Given the description of an element on the screen output the (x, y) to click on. 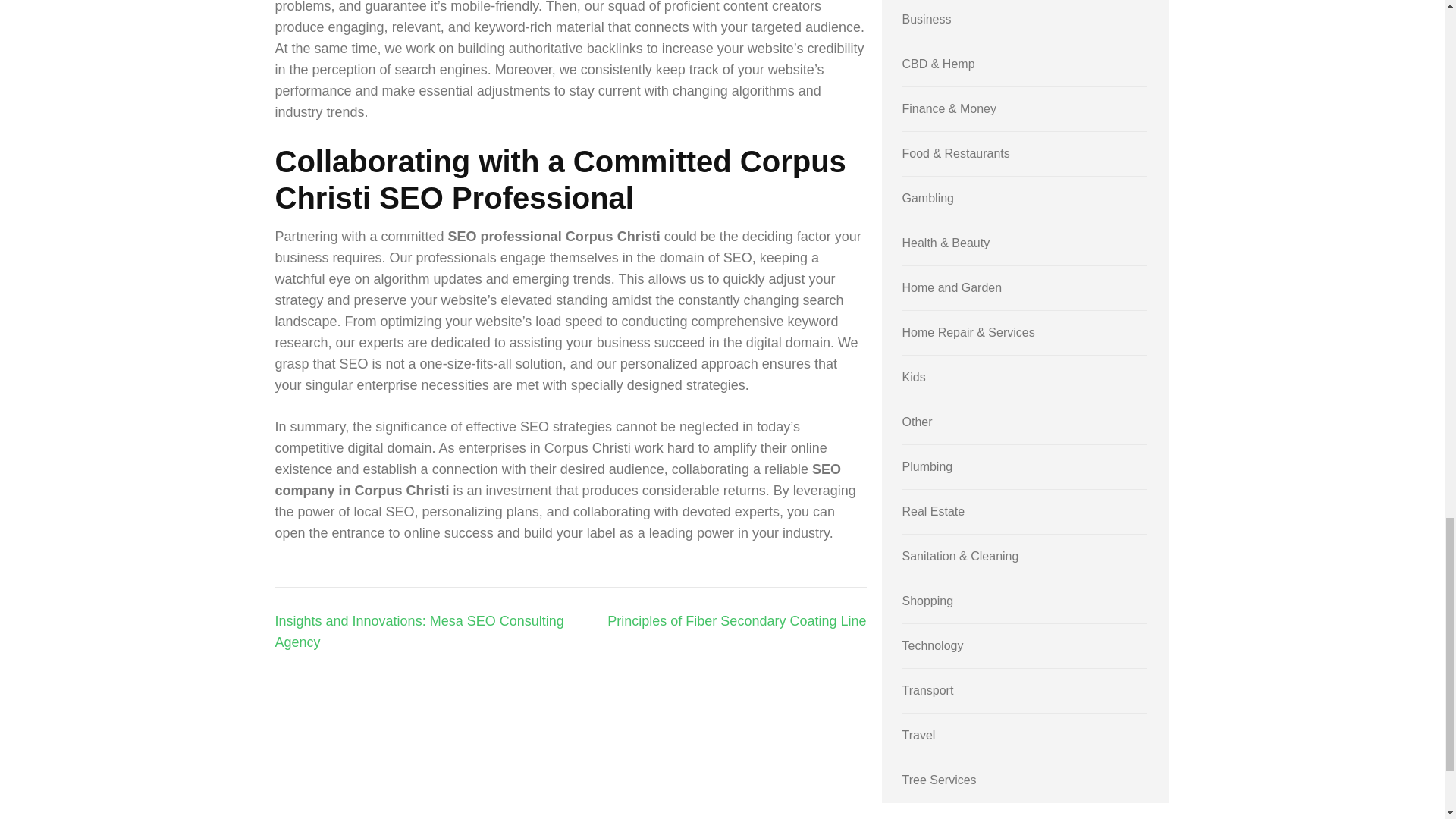
Insights and Innovations: Mesa SEO Consulting Agency (419, 631)
Principles of Fiber Secondary Coating Line (736, 620)
